Given the description of an element on the screen output the (x, y) to click on. 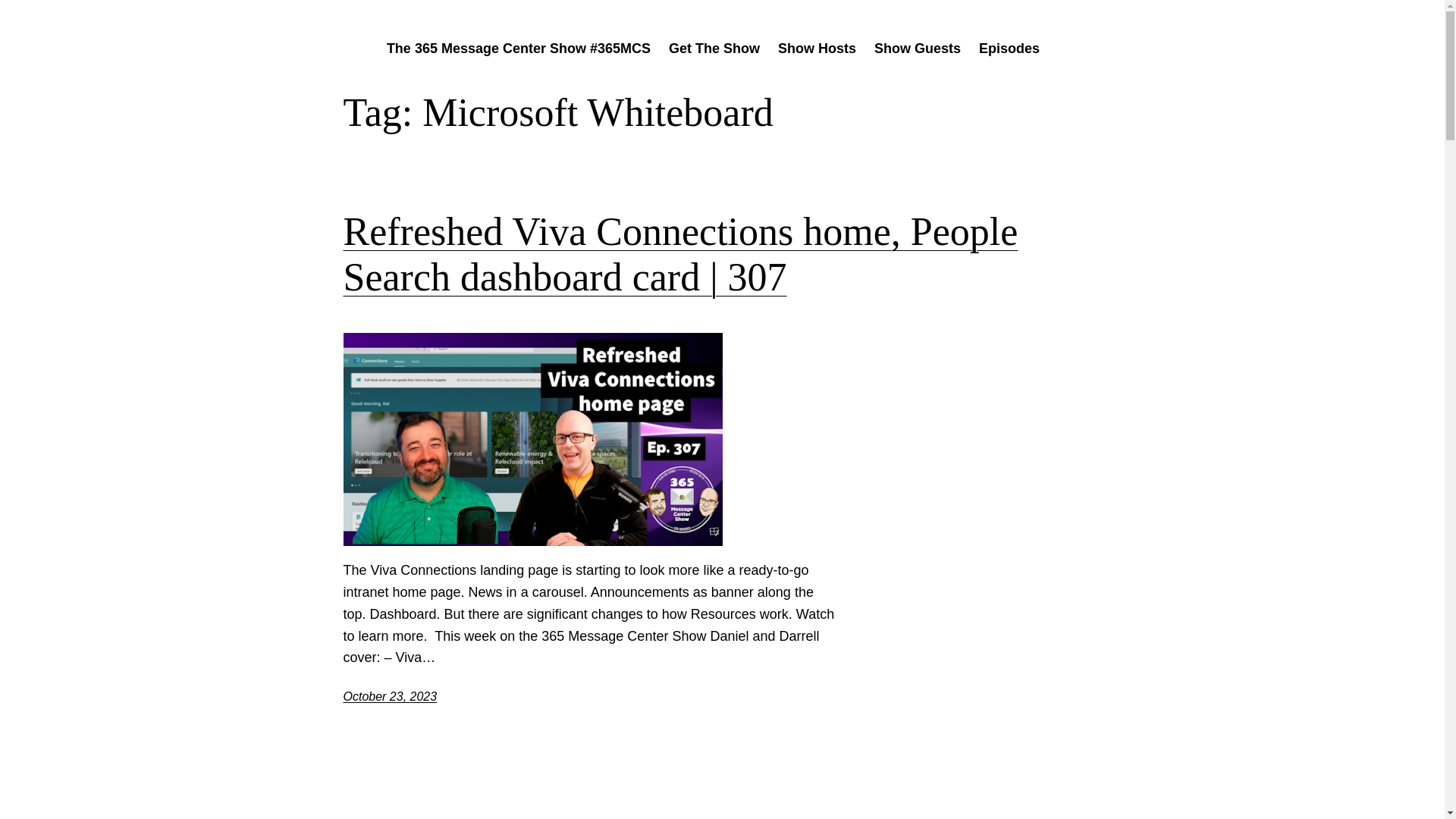
Episodes Element type: text (1009, 48)
Get The Show Element type: text (713, 48)
Show Guests Element type: text (917, 48)
The 365 Message Center Show #365MCS Element type: text (518, 48)
Show Hosts Element type: text (817, 48)
October 23, 2023 Element type: text (389, 696)
